Given the description of an element on the screen output the (x, y) to click on. 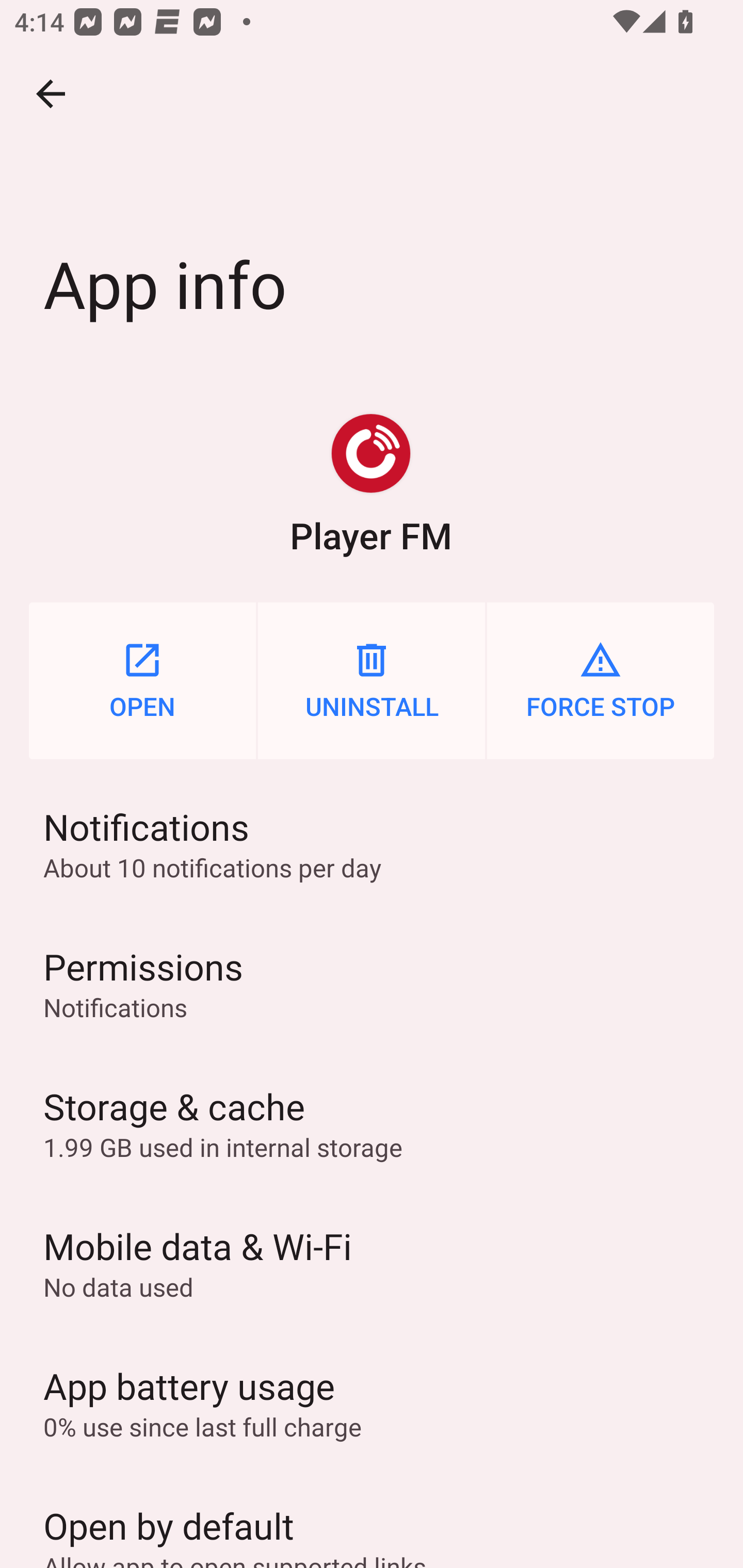
Navigate up (50, 93)
OPEN (141, 680)
UNINSTALL (371, 680)
FORCE STOP (600, 680)
Notifications About 10 notifications per day (371, 843)
Permissions Notifications (371, 983)
Storage & cache 1.99 GB used in internal storage (371, 1123)
Mobile data & Wi‑Fi No data used (371, 1262)
App battery usage 0% use since last full charge (371, 1402)
Open by default Allow app to open supported links (371, 1520)
